Given the description of an element on the screen output the (x, y) to click on. 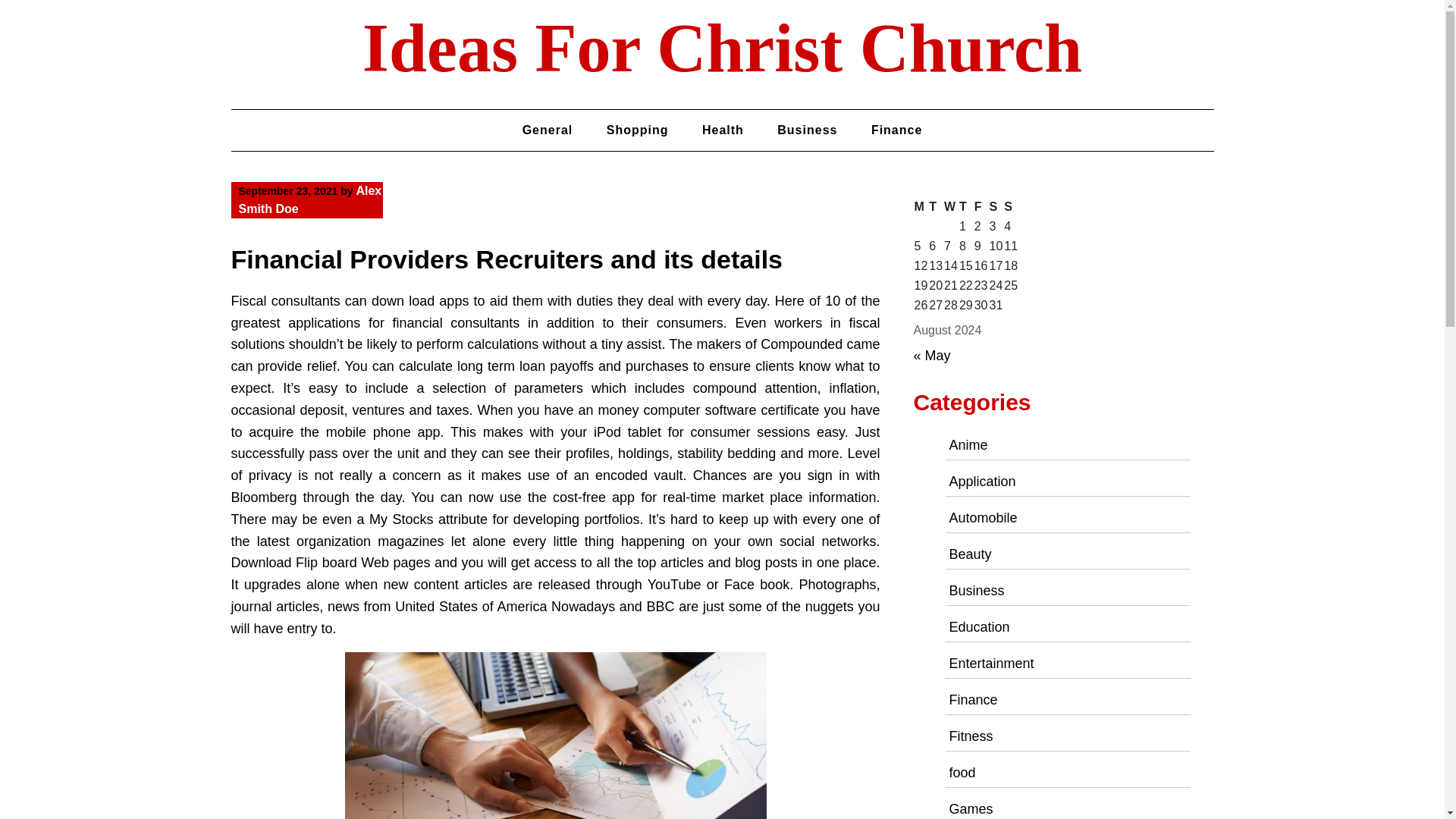
Fitness (970, 735)
Posts by Alex Smith Doe (309, 199)
food (962, 772)
Anime (968, 444)
Business (806, 129)
Finance (896, 129)
Education (979, 626)
Health (722, 129)
Ideas For Christ Church (721, 47)
Entertainment (991, 663)
